Given the description of an element on the screen output the (x, y) to click on. 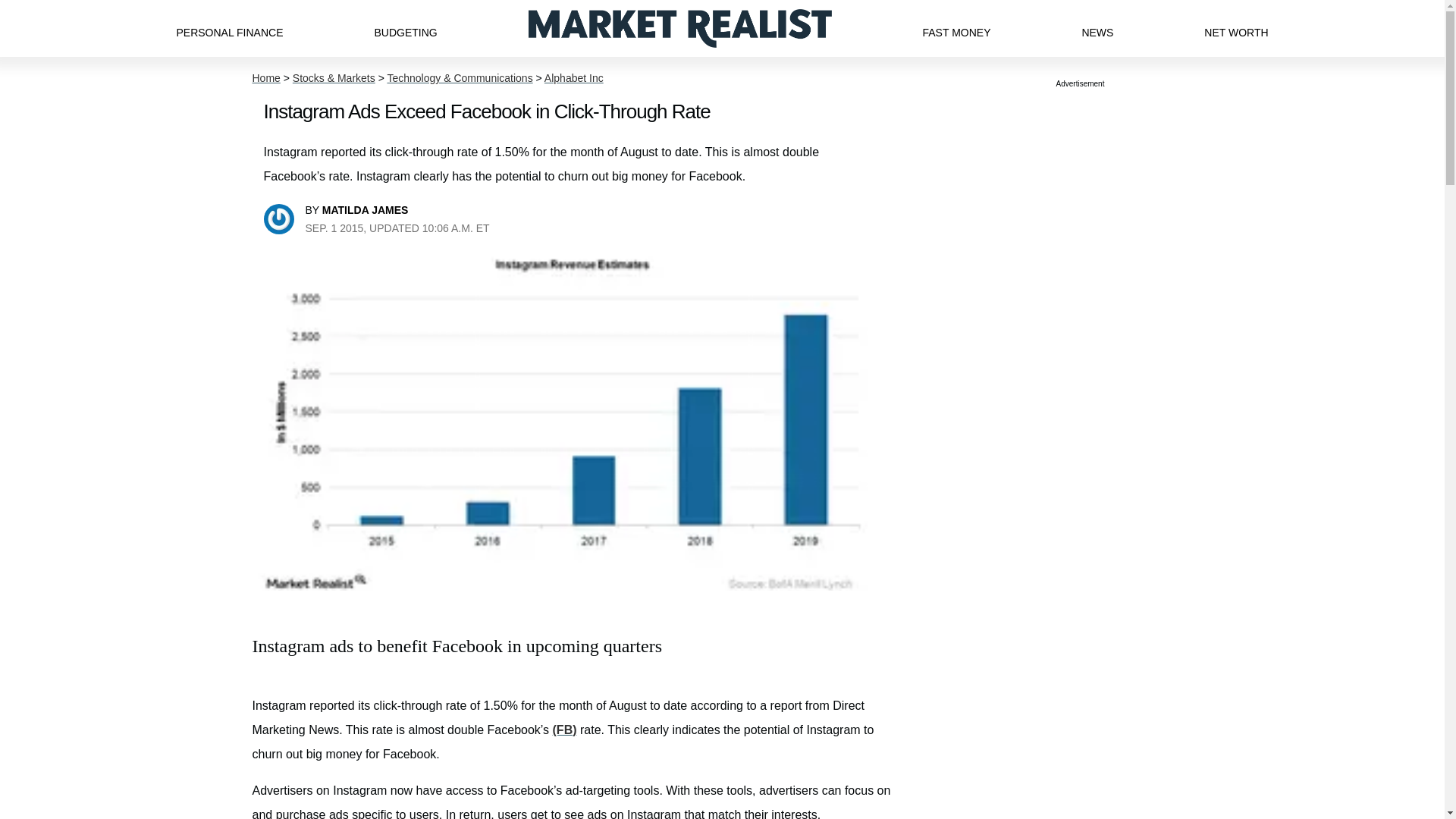
Home (265, 78)
BUDGETING (405, 27)
NEWS (1097, 27)
MATILDA JAMES (365, 209)
Alphabet Inc (574, 78)
NET WORTH (1236, 27)
FAST MONEY (955, 27)
PERSONAL FINANCE (229, 27)
